Given the description of an element on the screen output the (x, y) to click on. 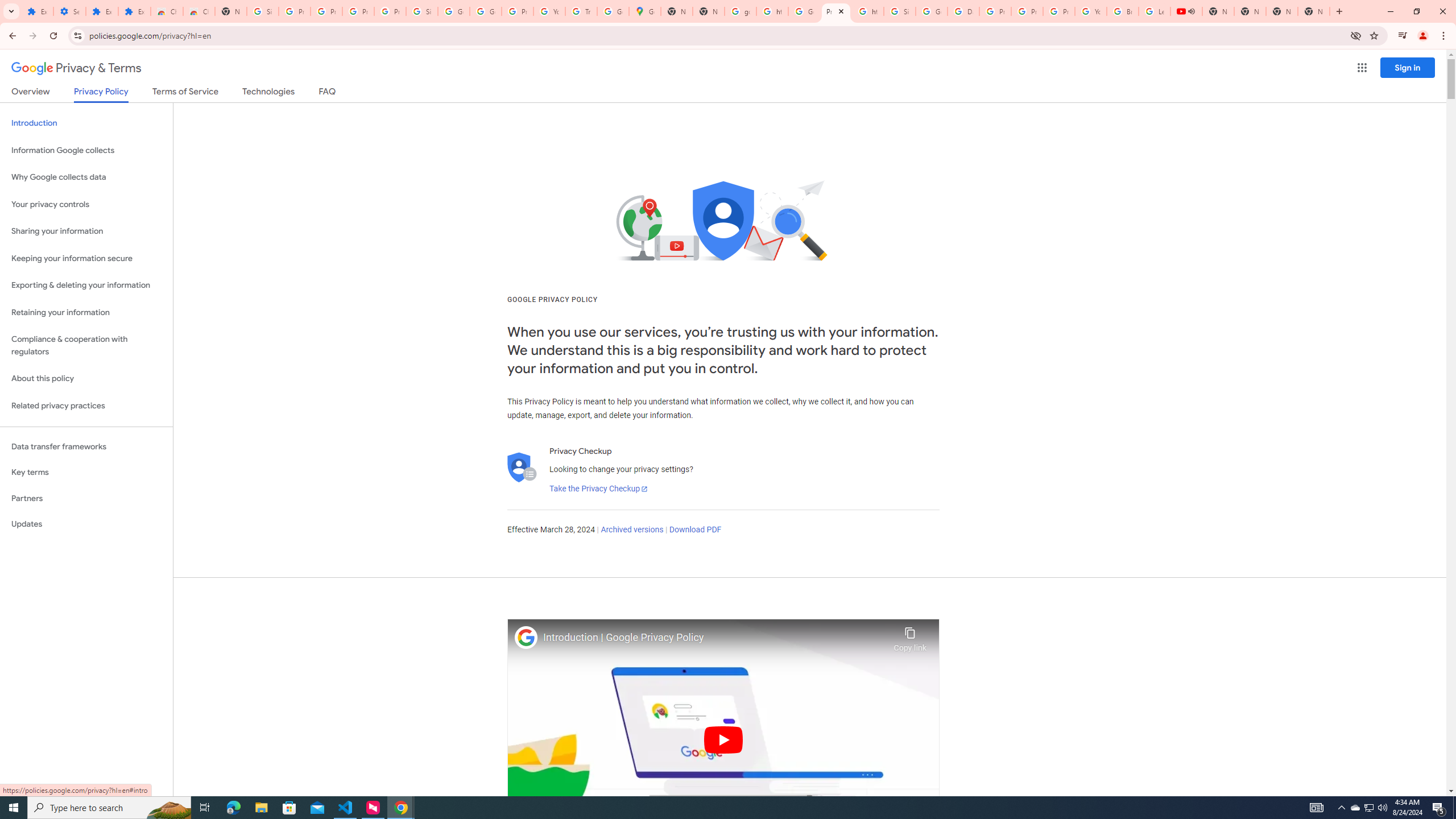
Chrome Web Store (166, 11)
Settings (69, 11)
https://scholar.google.com/ (868, 11)
Partners (86, 497)
Technologies (268, 93)
Download PDF (695, 529)
Privacy Help Center - Policies Help (1027, 11)
Photo image of Google (526, 636)
Keeping your information secure (86, 258)
New Tab (1313, 11)
Take the Privacy Checkup (597, 488)
https://scholar.google.com/ (772, 11)
